Given the description of an element on the screen output the (x, y) to click on. 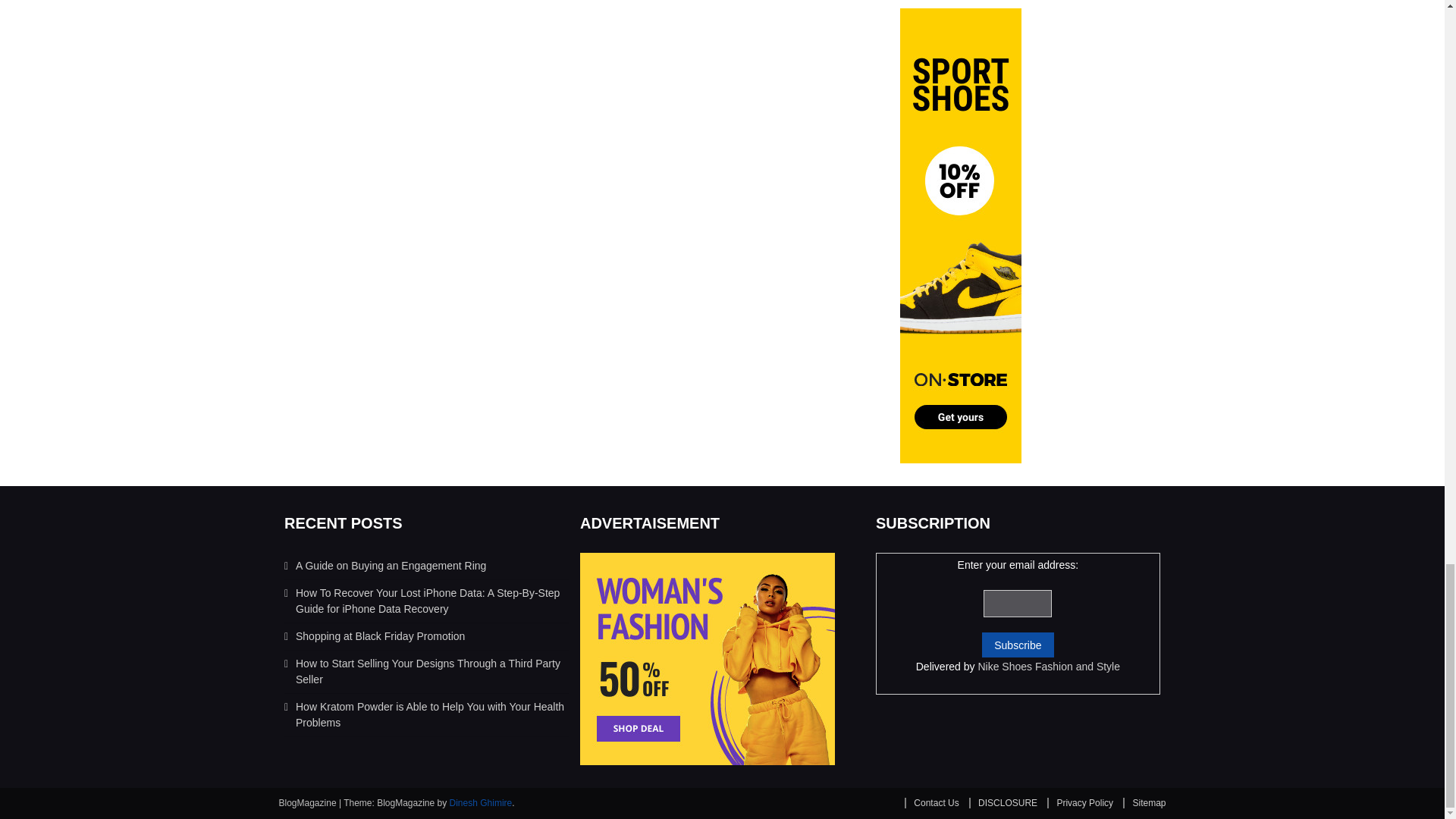
Subscribe (1016, 644)
